Given the description of an element on the screen output the (x, y) to click on. 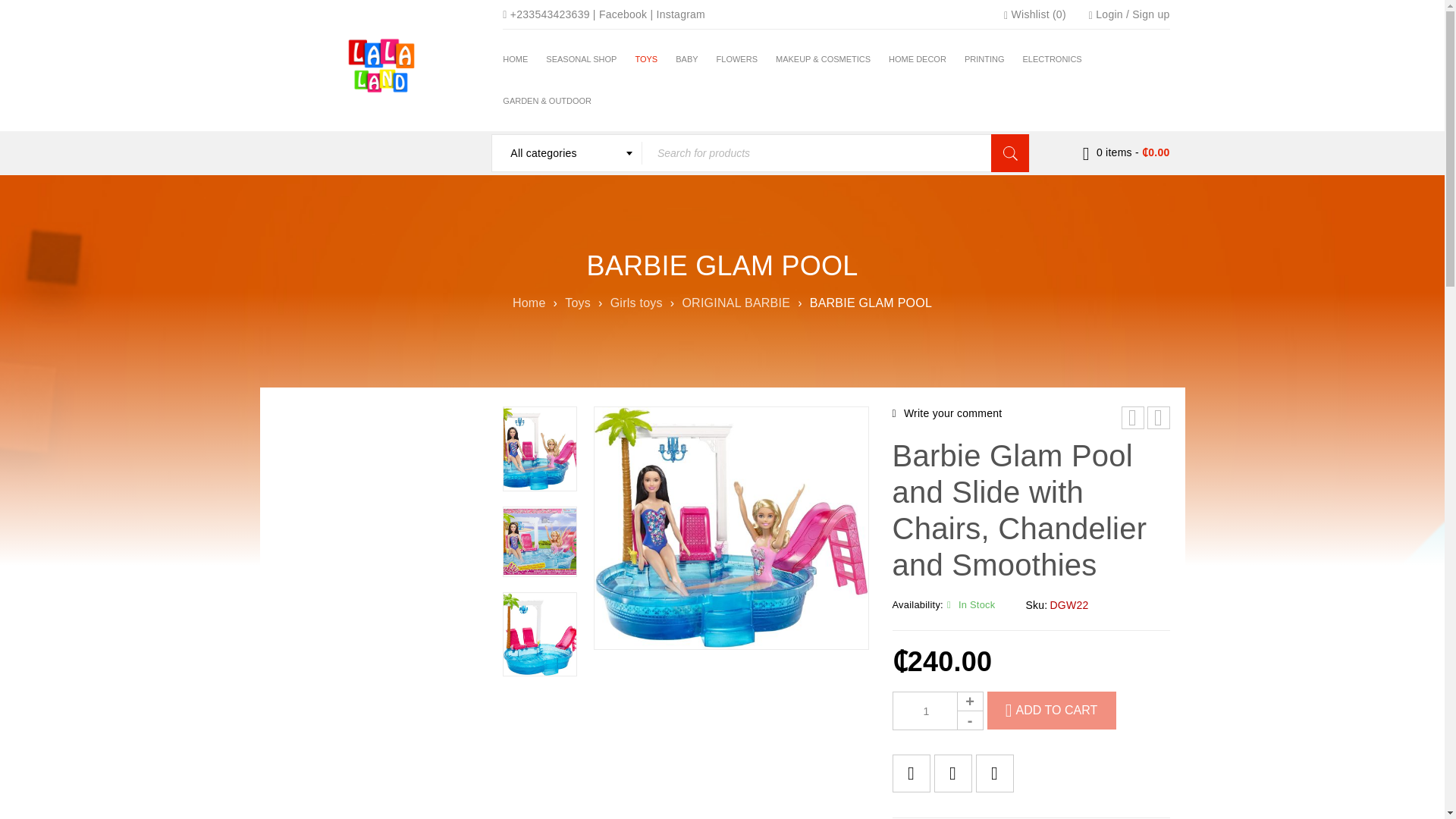
- (970, 720)
Home (529, 302)
HOME DECOR (917, 59)
FLOWERS (736, 59)
Login (1109, 14)
Instagram (681, 14)
SEASONAL SHOP (580, 59)
Search (1010, 152)
ORIGINAL BARBIE (735, 302)
Girls toys (636, 302)
